Given the description of an element on the screen output the (x, y) to click on. 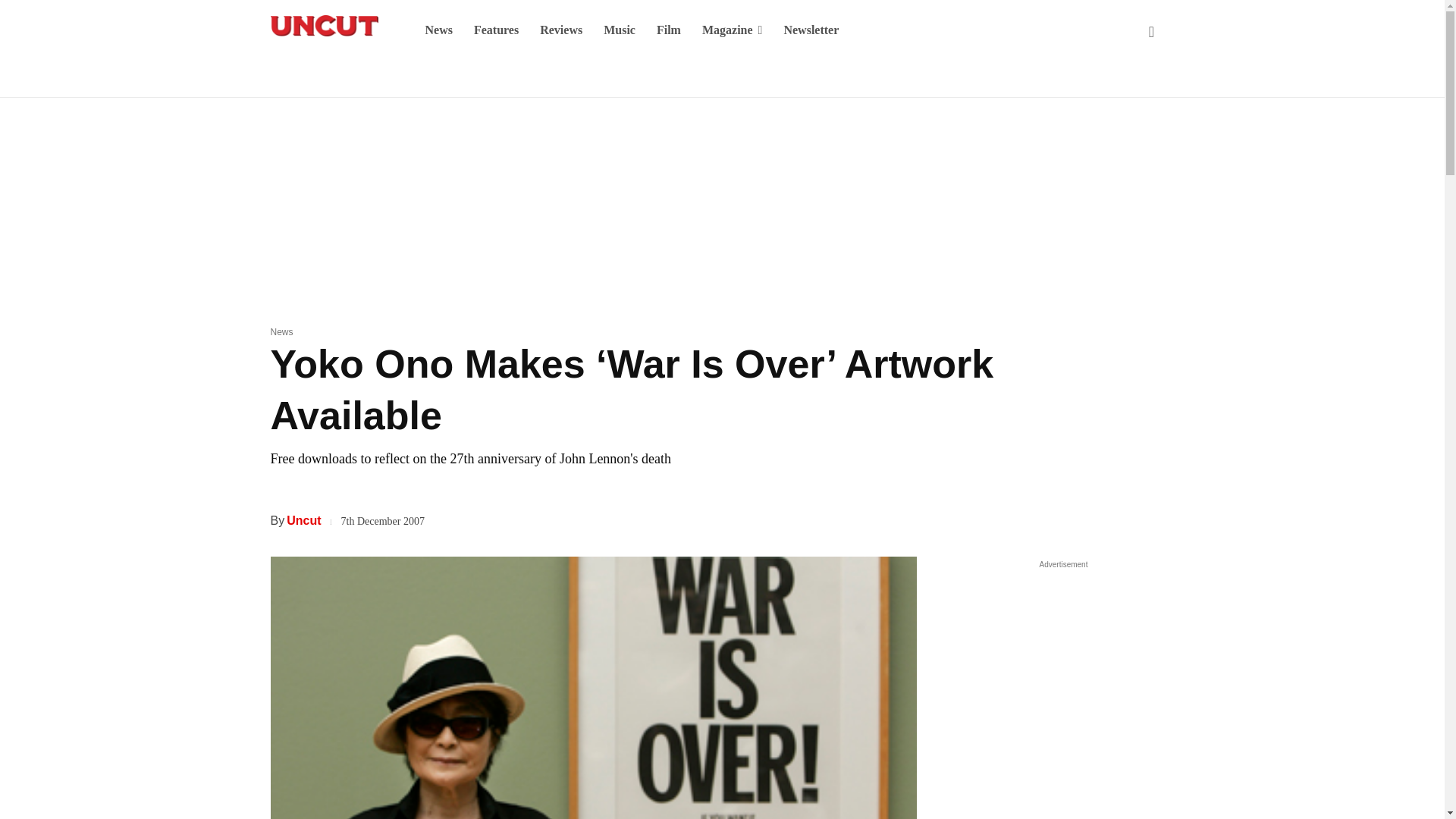
View all posts in News (280, 331)
Magazine (732, 30)
Features (496, 30)
Reviews (560, 30)
Uncut Logo (323, 25)
Newsletter (810, 30)
